Given the description of an element on the screen output the (x, y) to click on. 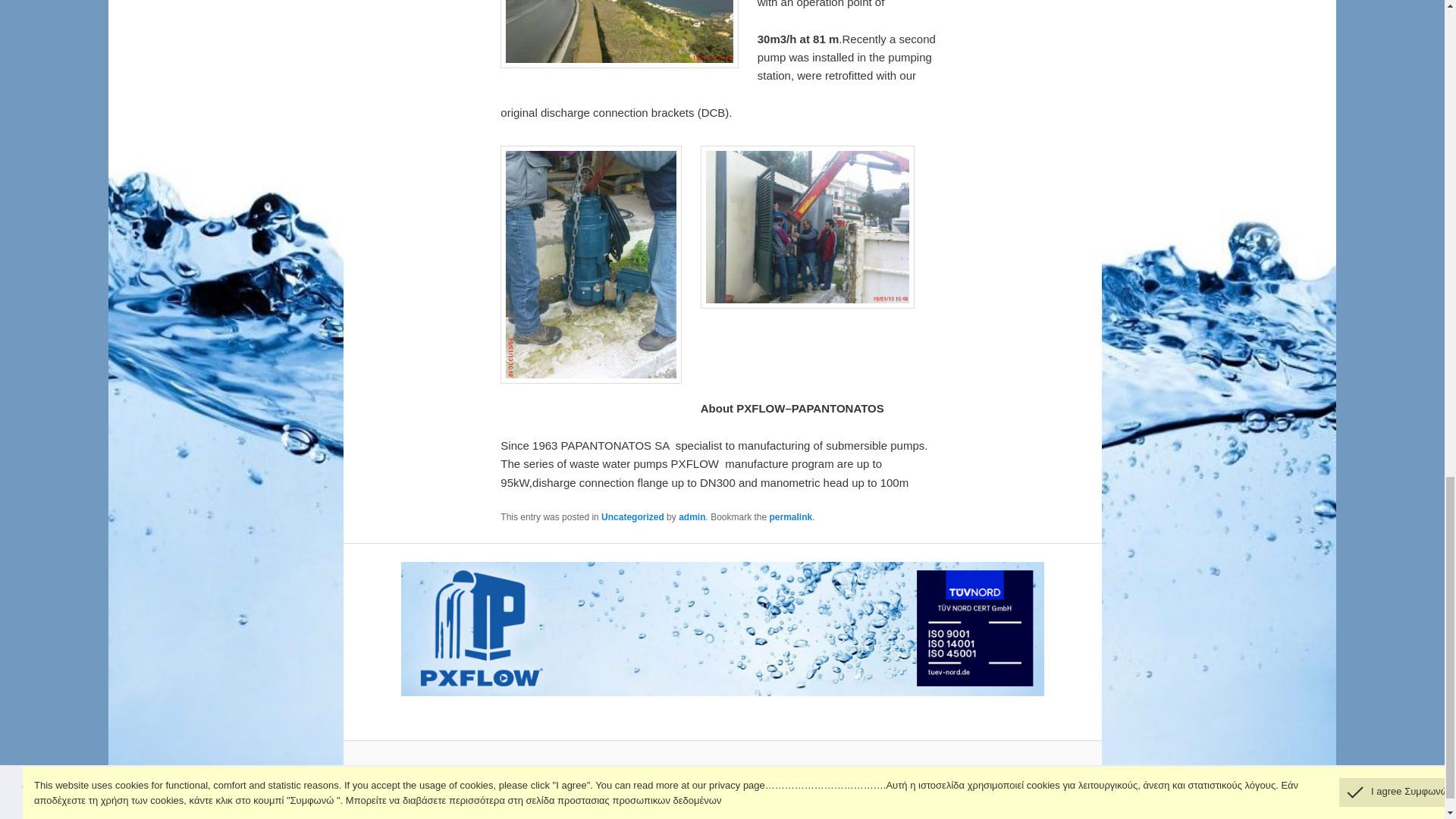
Permalink to High head wastewater pumps with VORTEX impeller (791, 516)
Semantic Personal Publishing Platform (758, 769)
